Given the description of an element on the screen output the (x, y) to click on. 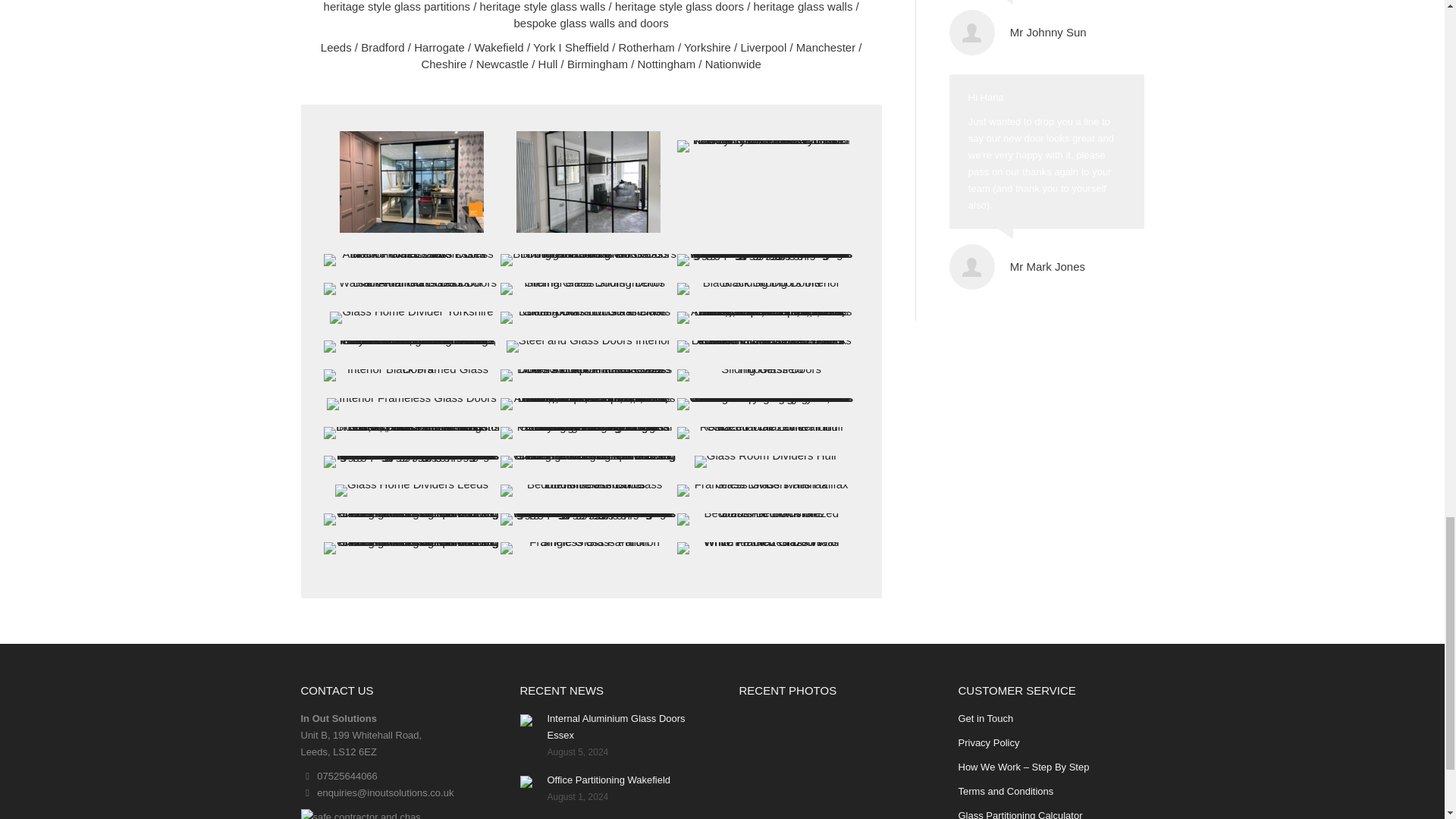
Internal Glass Doors (411, 181)
Interior Glass Partitions Walsall (411, 288)
Internal Glass Doors Birmingham (588, 259)
Industrial Glass Partitions (765, 146)
Interior Aluminium Glass Doors (588, 181)
Interior Glass Black Doors (765, 288)
Glass Partitioning Hampshire (765, 259)
Interior Glass Doors Essex (411, 259)
Black Framed Glass Doors (588, 288)
